Given the description of an element on the screen output the (x, y) to click on. 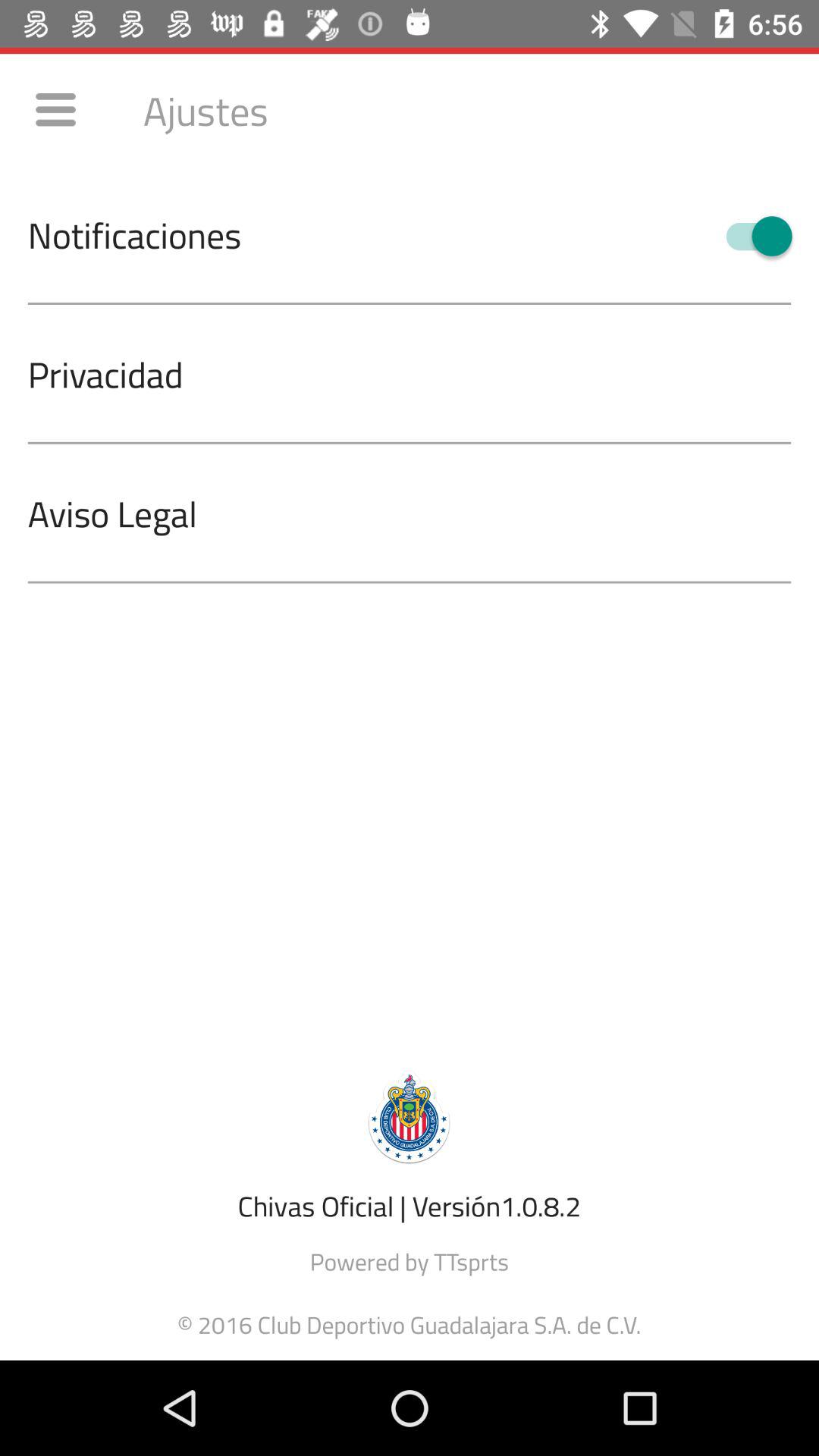
launch icon next to the notificaciones item (751, 236)
